Given the description of an element on the screen output the (x, y) to click on. 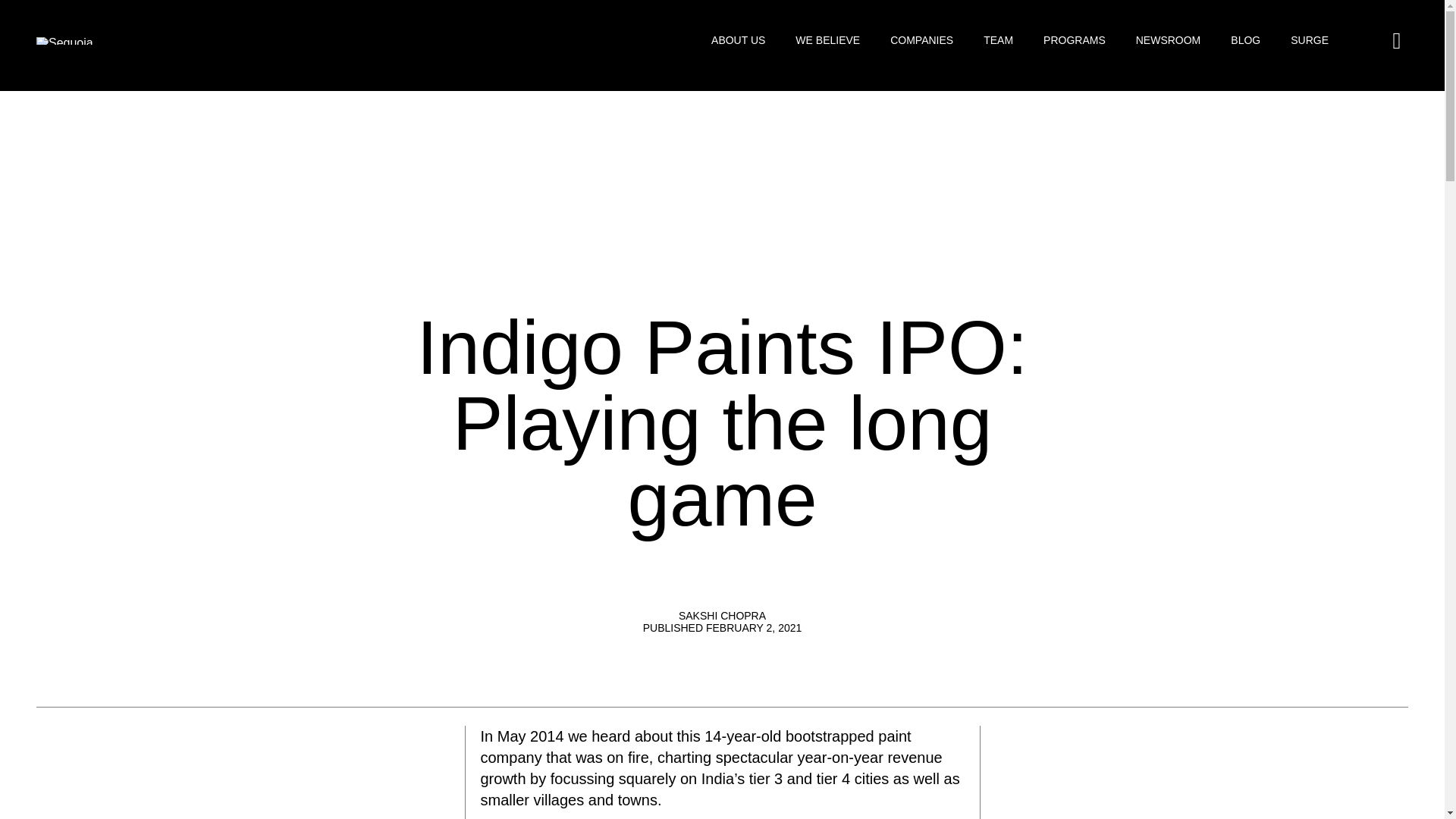
BLOG (1245, 40)
NEWSROOM (1168, 40)
WE BELIEVE (827, 40)
SURGE (1308, 40)
ABOUT US (738, 40)
Open search (1396, 40)
TEAM (998, 40)
PROGRAMS (1074, 40)
COMPANIES (921, 40)
